Given the description of an element on the screen output the (x, y) to click on. 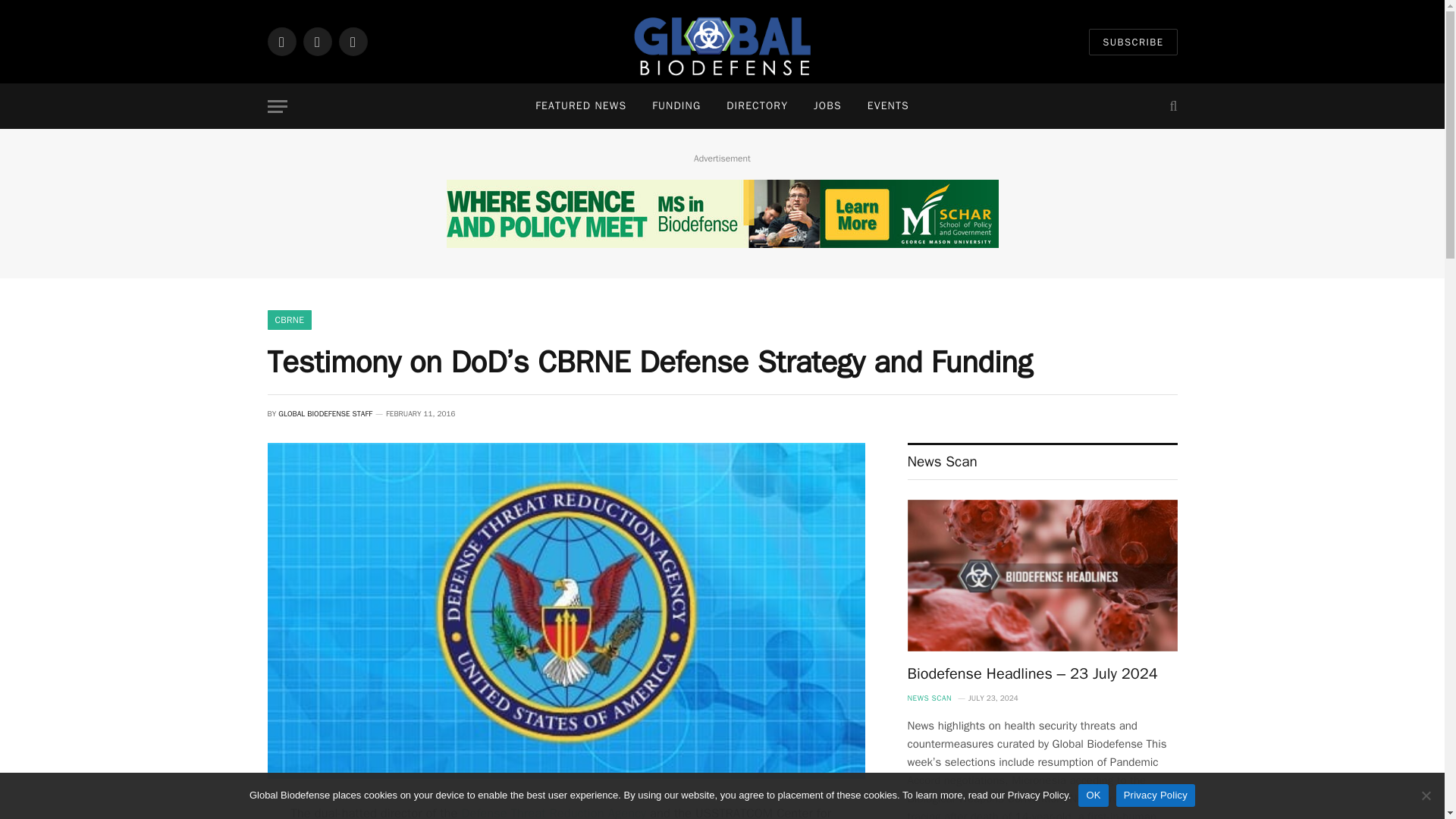
FUNDING (676, 105)
CBRNE (288, 320)
Global Biodefense (721, 41)
Instagram (316, 41)
GLOBAL BIODEFENSE STAFF (325, 413)
Threads (351, 41)
Biosecurity and Biodefense Jobs (827, 105)
DIRECTORY (756, 105)
Posts by Global Biodefense Staff (325, 413)
SUBSCRIBE (1132, 41)
EVENTS (887, 105)
Facebook (280, 41)
FEATURED NEWS (580, 105)
JOBS (827, 105)
Defense Threat Reduction Agency (553, 812)
